Given the description of an element on the screen output the (x, y) to click on. 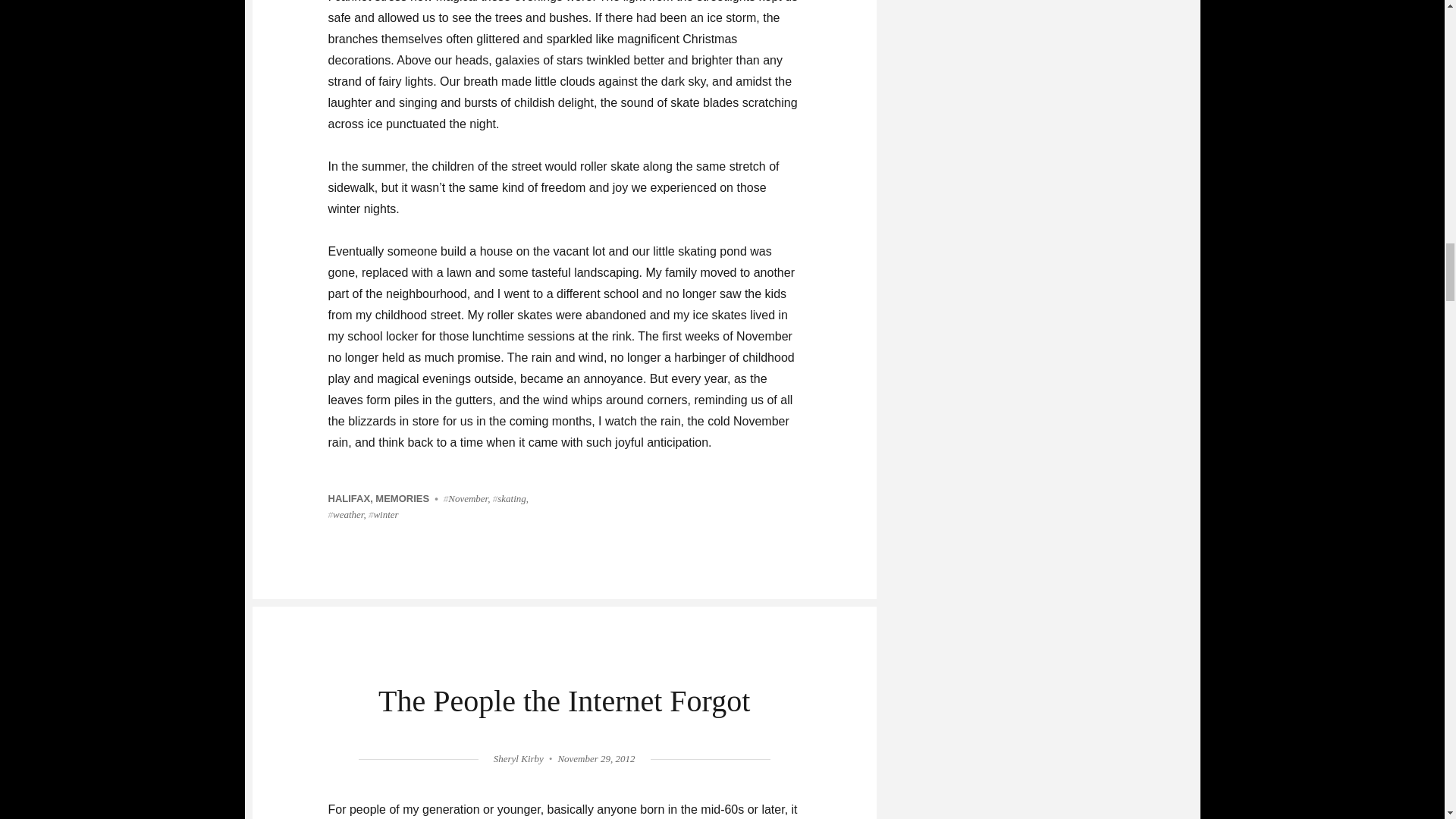
November (465, 498)
Sheryl Kirby (518, 758)
HALIFAX (348, 498)
The People the Internet Forgot (563, 700)
weather (344, 514)
MEMORIES (402, 498)
winter (383, 514)
skating (509, 498)
